Given the description of an element on the screen output the (x, y) to click on. 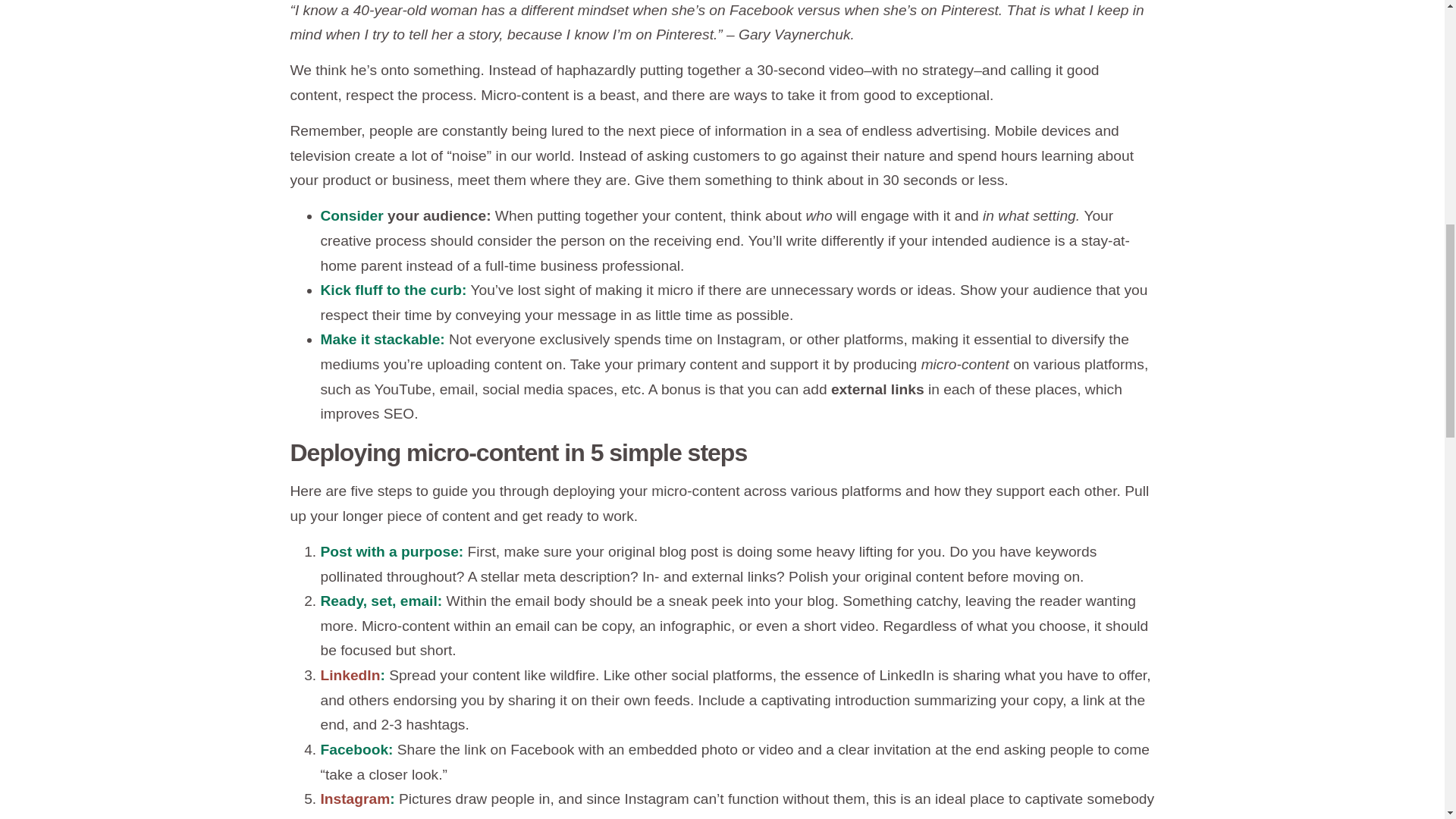
Instagram (355, 798)
LinkedIn (350, 675)
